Given the description of an element on the screen output the (x, y) to click on. 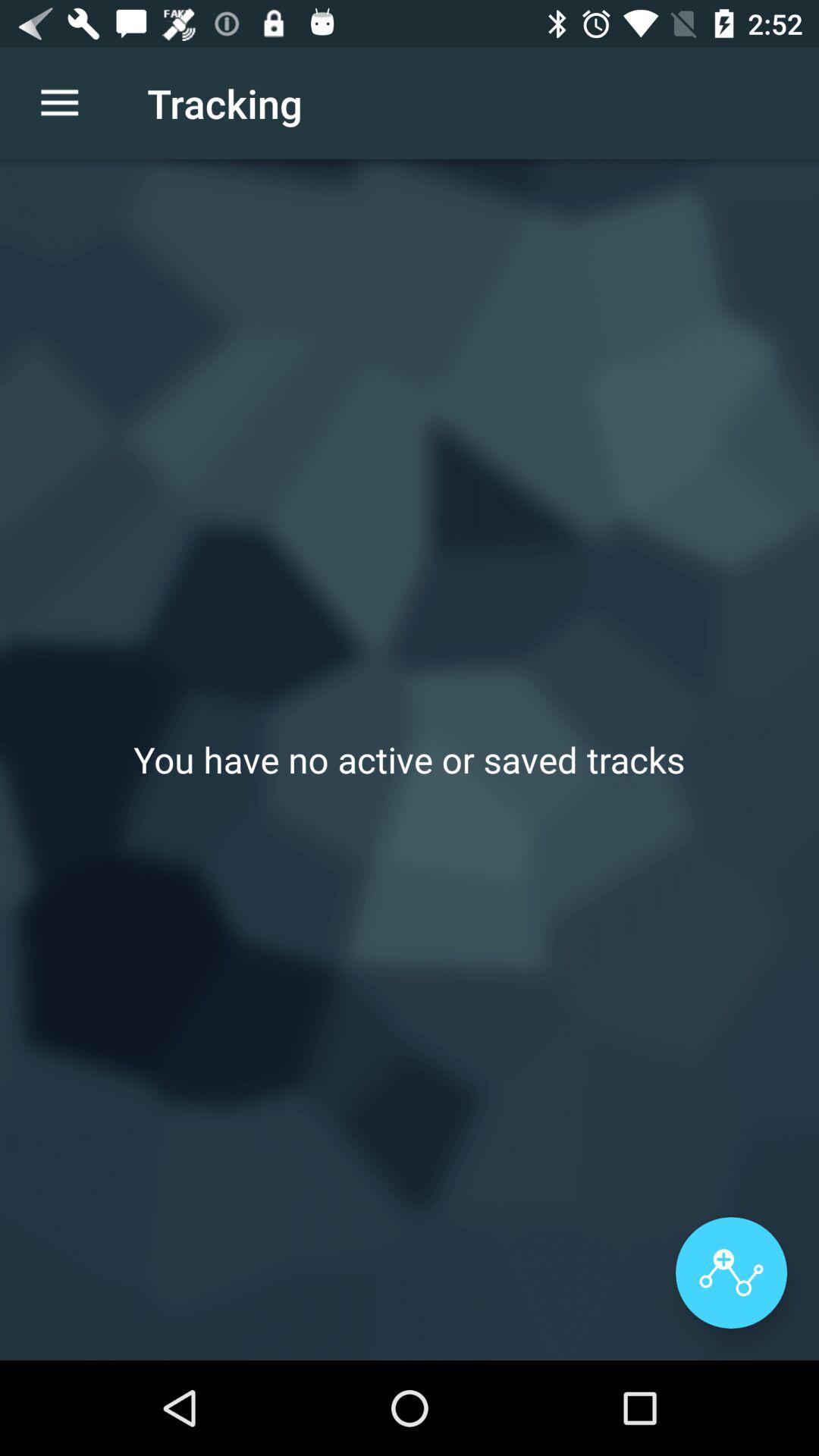
click the item next to the tracking (59, 103)
